Given the description of an element on the screen output the (x, y) to click on. 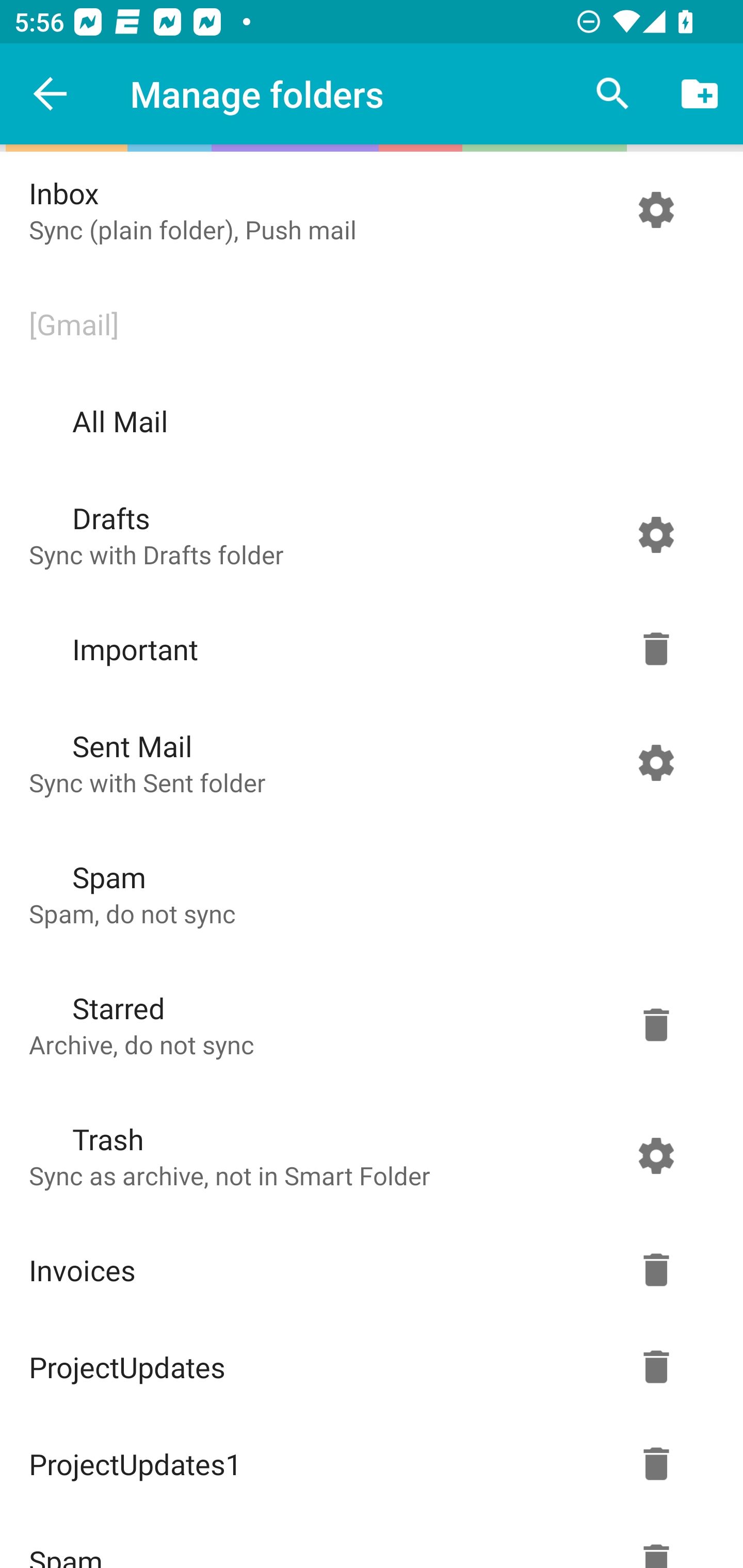
Navigate up (50, 93)
Search folders (612, 93)
Create folder (699, 93)
Folder settings (655, 209)
All Mail (367, 420)
Drafts Sync with Drafts folder Folder settings (367, 534)
Folder settings (655, 534)
Important Folder settings (367, 648)
Folder settings (655, 648)
Sent Mail Sync with Sent folder Folder settings (367, 762)
Folder settings (655, 762)
Spam Spam, do not sync (367, 893)
Starred Archive, do not sync Folder settings (367, 1024)
Folder settings (655, 1024)
Folder settings (655, 1155)
Invoices Folder settings (367, 1269)
Folder settings (655, 1269)
ProjectUpdates Folder settings (367, 1366)
Folder settings (655, 1366)
ProjectUpdates1 Folder settings (367, 1463)
Folder settings (655, 1463)
Folder settings (655, 1539)
